Given the description of an element on the screen output the (x, y) to click on. 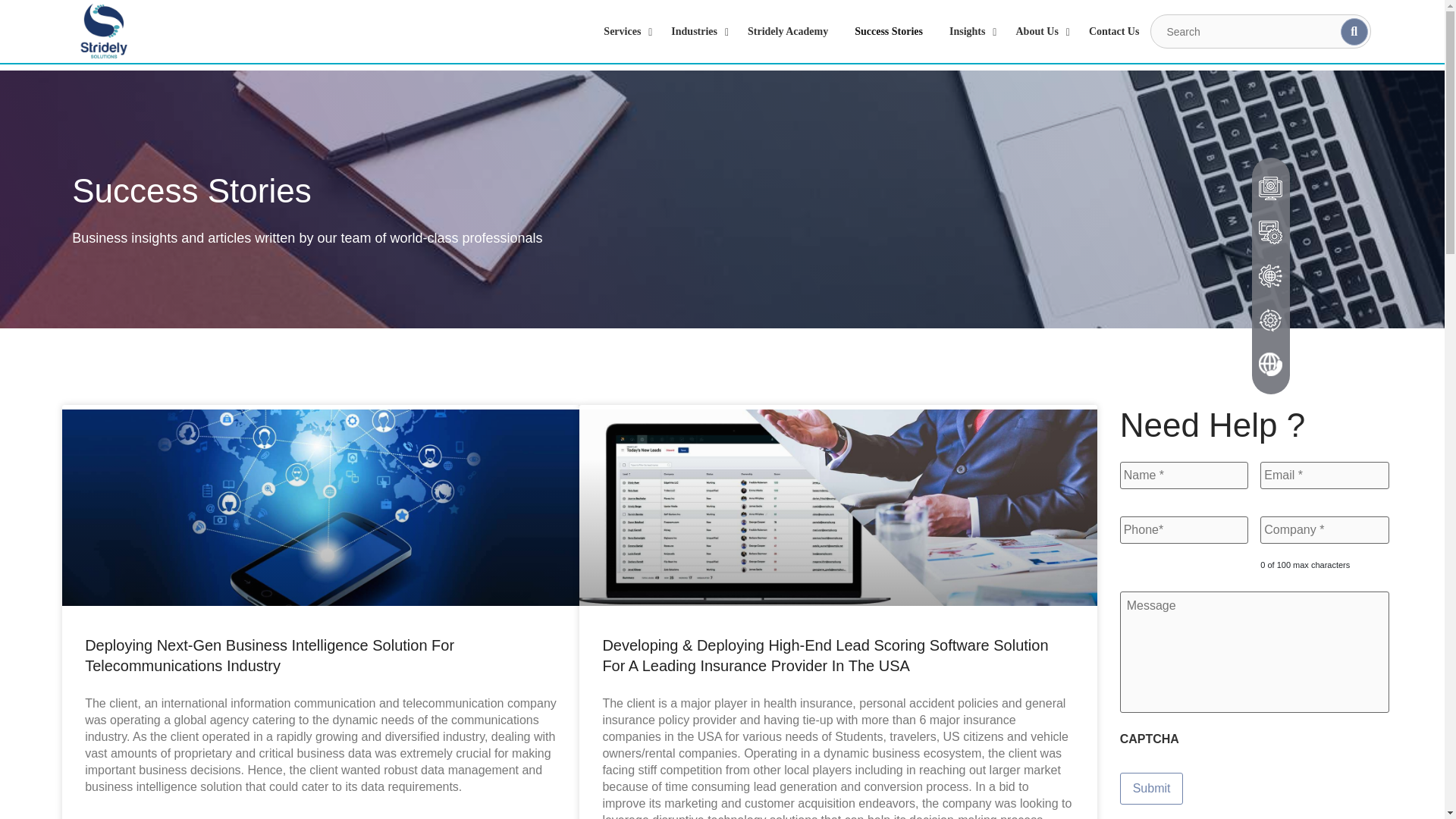
Submit (1151, 788)
Services (623, 30)
Search (1260, 31)
